Given the description of an element on the screen output the (x, y) to click on. 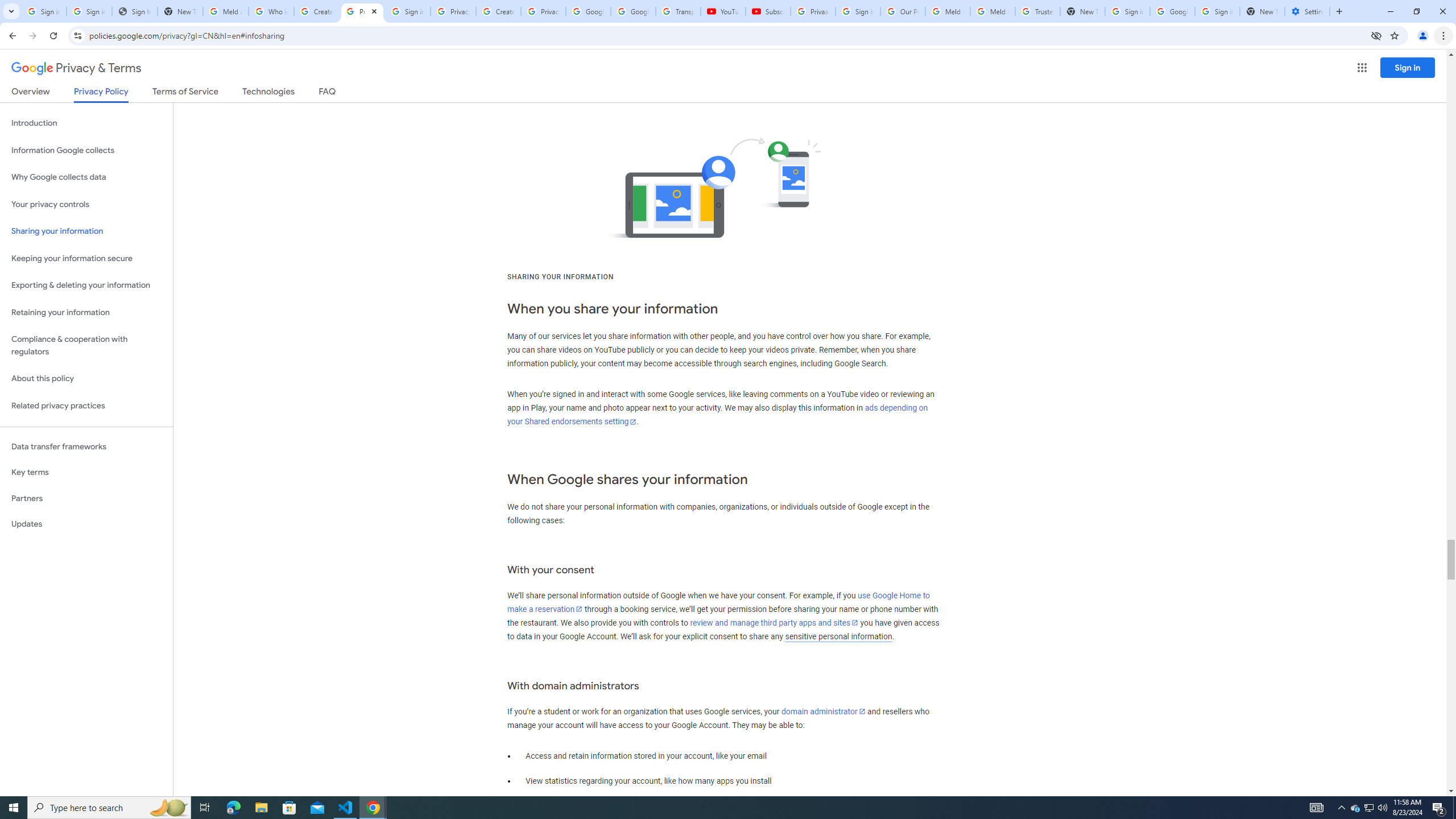
Information Google collects (86, 150)
Introduction (86, 122)
Retaining your information (86, 312)
Sign in - Google Accounts (1216, 11)
Your privacy controls (86, 204)
